Given the description of an element on the screen output the (x, y) to click on. 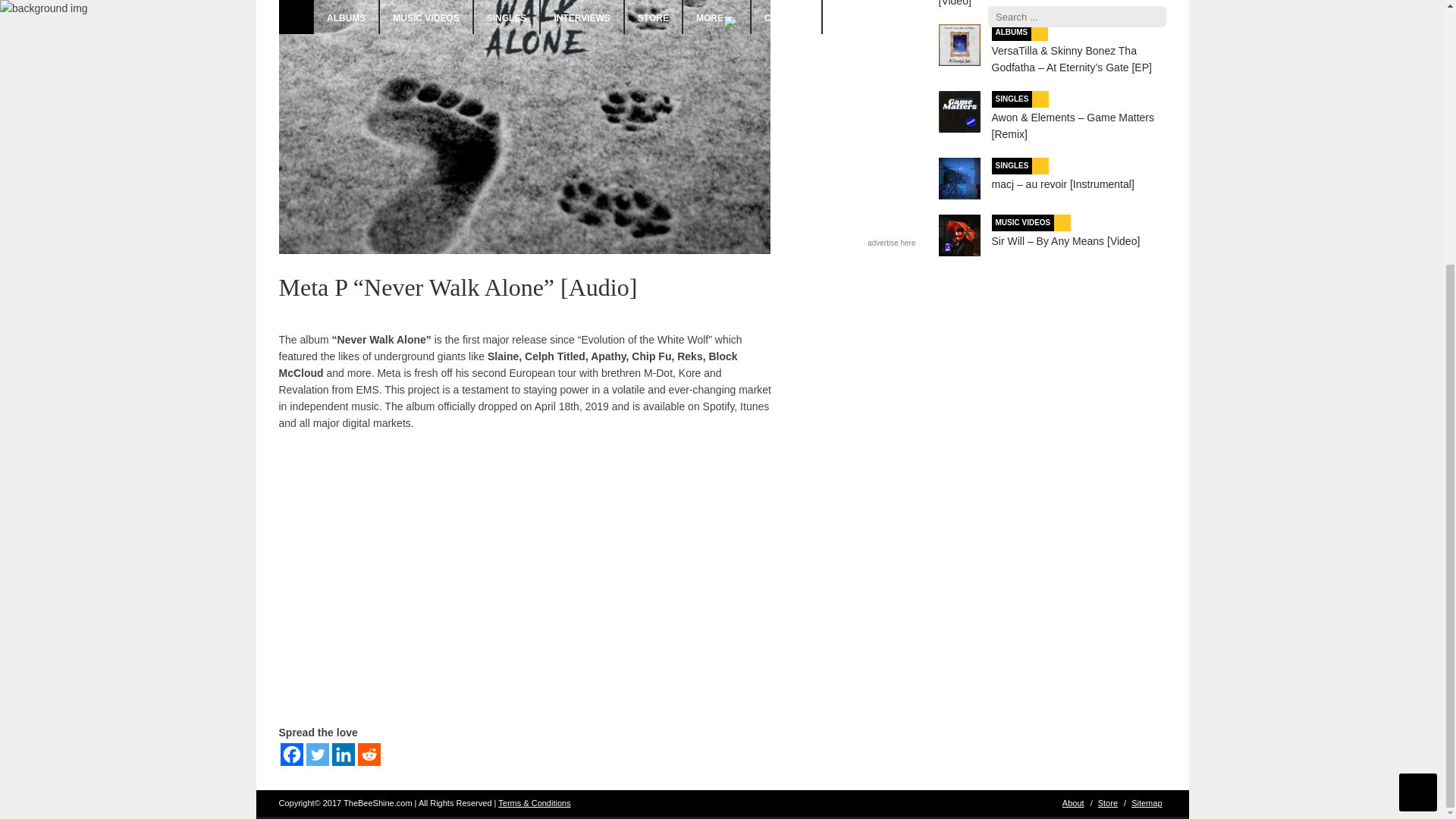
View all posts in SINGLES (1011, 98)
Reddit (369, 753)
SINGLES (1011, 98)
View all posts in SINGLES (1011, 166)
View all posts in ALBUMS (1011, 32)
advertise here (891, 243)
Linkedin (343, 753)
View all posts in MUSIC VIDEOS (1022, 222)
ALBUMS (1011, 32)
Twitter (317, 753)
